Given the description of an element on the screen output the (x, y) to click on. 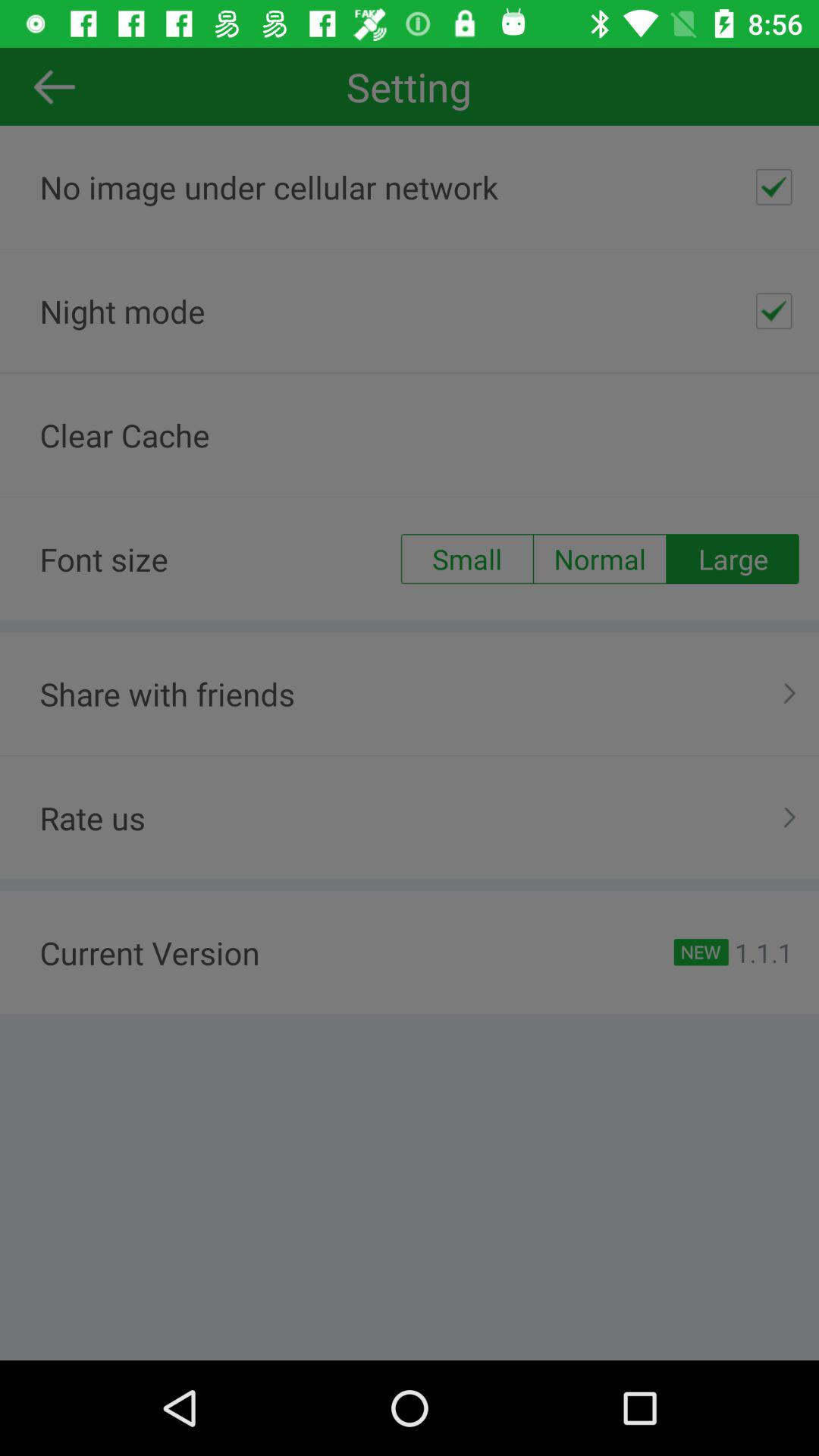
turn off the item to the right of the no image under (774, 187)
